Given the description of an element on the screen output the (x, y) to click on. 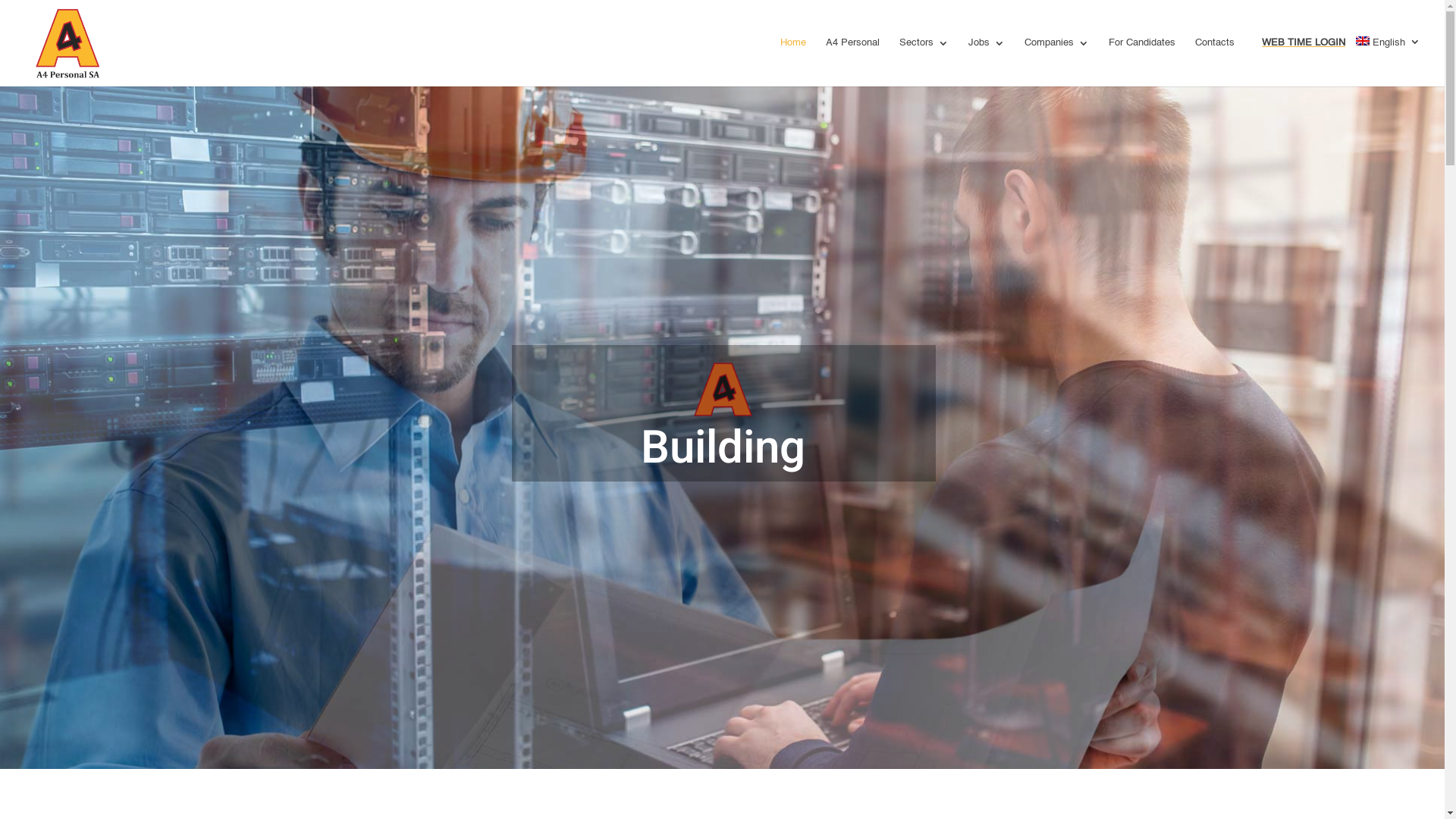
English Element type: text (1387, 59)
A4 Personal Element type: text (852, 59)
Contacts Element type: text (1214, 59)
Home Element type: text (793, 59)
WEB TIME LOGIN Element type: text (1303, 59)
Jobs Element type: text (986, 59)
For Candidates Element type: text (1141, 59)
Companies Element type: text (1056, 59)
Sectors Element type: text (923, 59)
